Given the description of an element on the screen output the (x, y) to click on. 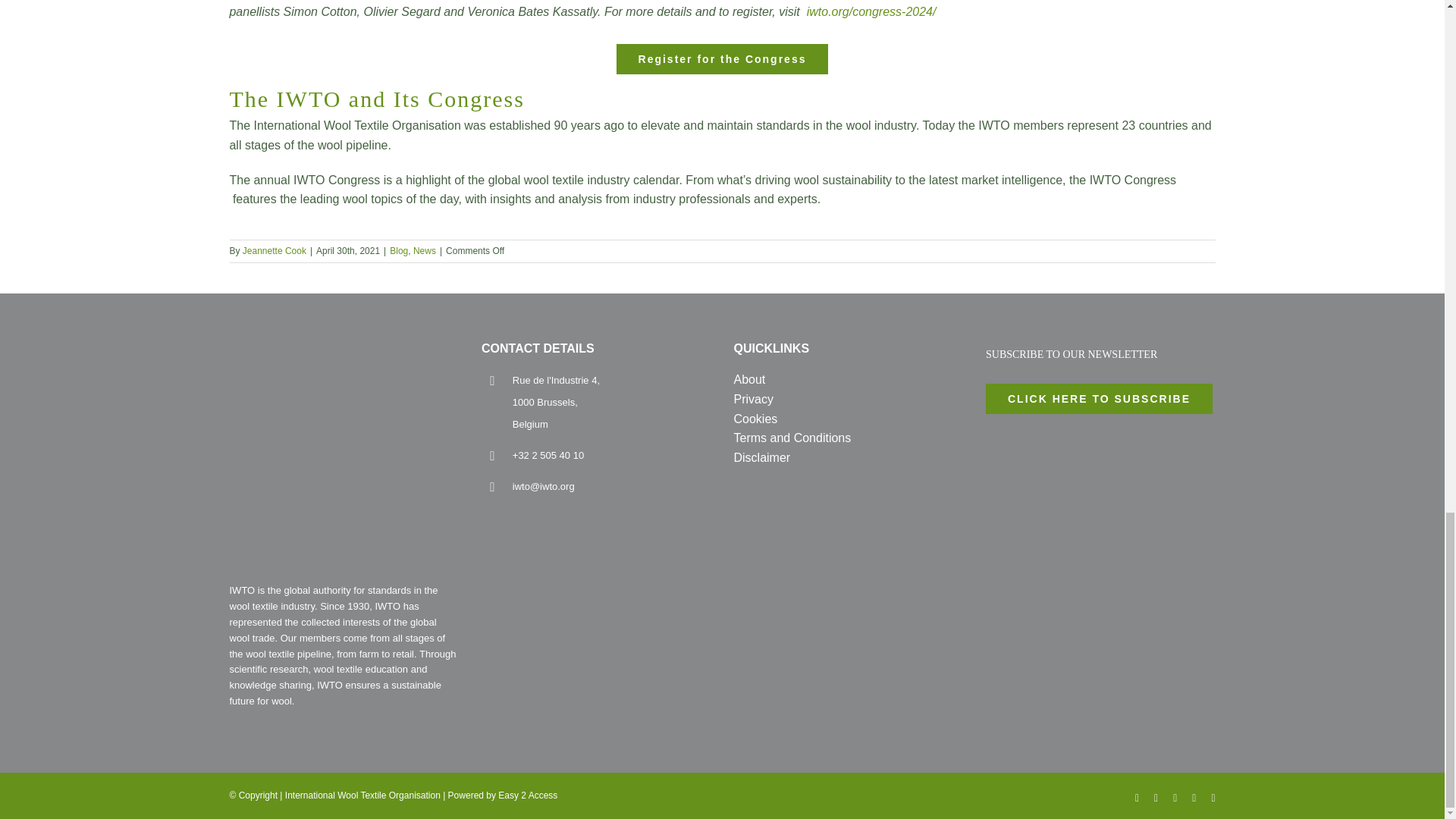
Jeannette Cook (274, 250)
CLICK HERE TO SUBSCRIBE (1100, 399)
Register for the Congress (721, 59)
Posts by Jeannette Cook (274, 250)
